Given the description of an element on the screen output the (x, y) to click on. 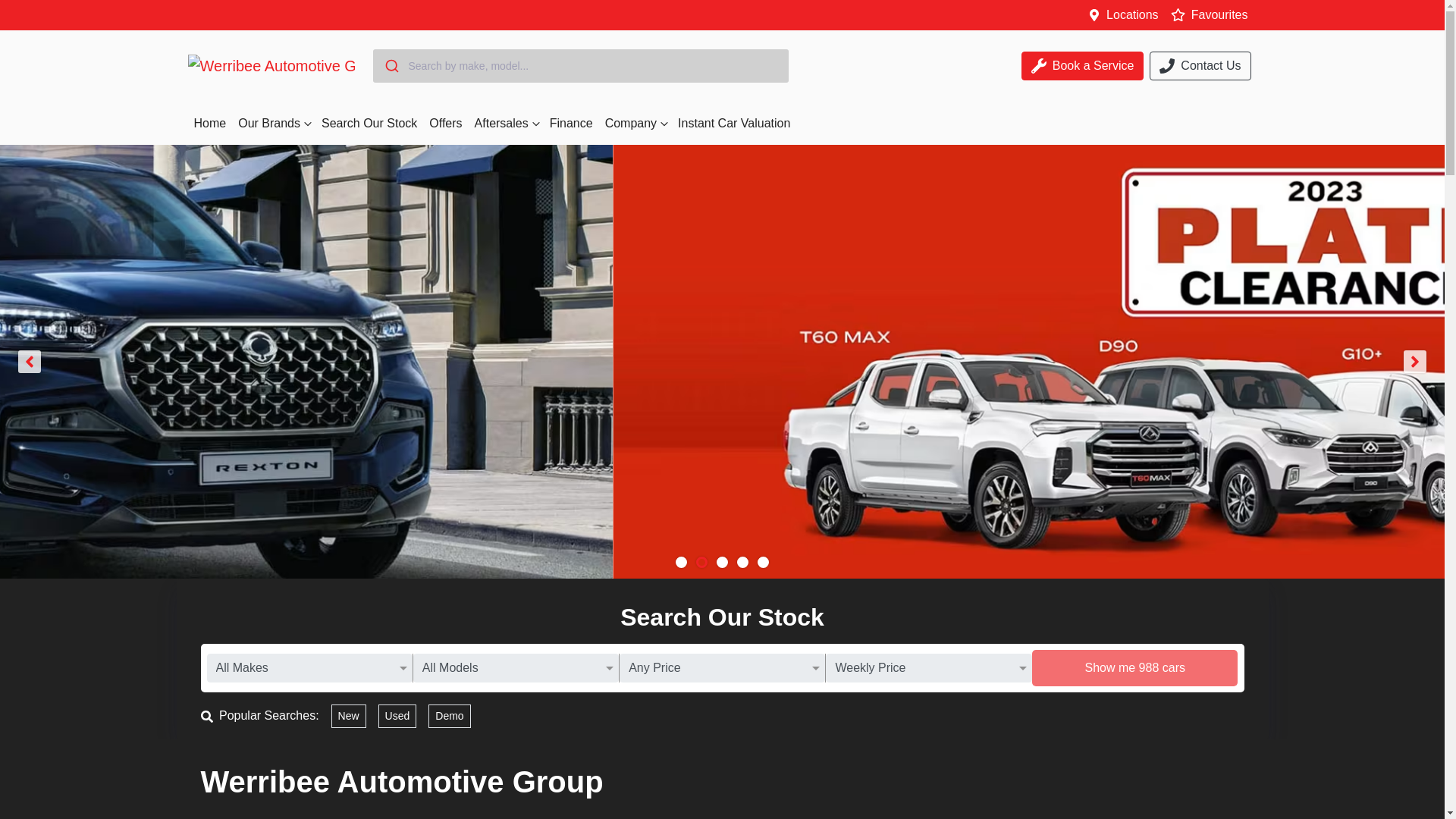
Search Our Stock (369, 123)
Show me 988 cars (1135, 668)
Demo (449, 716)
Our Brands (273, 123)
Home (209, 123)
Locations (1132, 14)
Instant Car Valuation (733, 123)
Book a Service (1083, 65)
Contact Us (1200, 65)
Aftersales (505, 123)
Submit (390, 65)
Offers (445, 123)
New (348, 716)
Used (397, 716)
Company (634, 123)
